Given the description of an element on the screen output the (x, y) to click on. 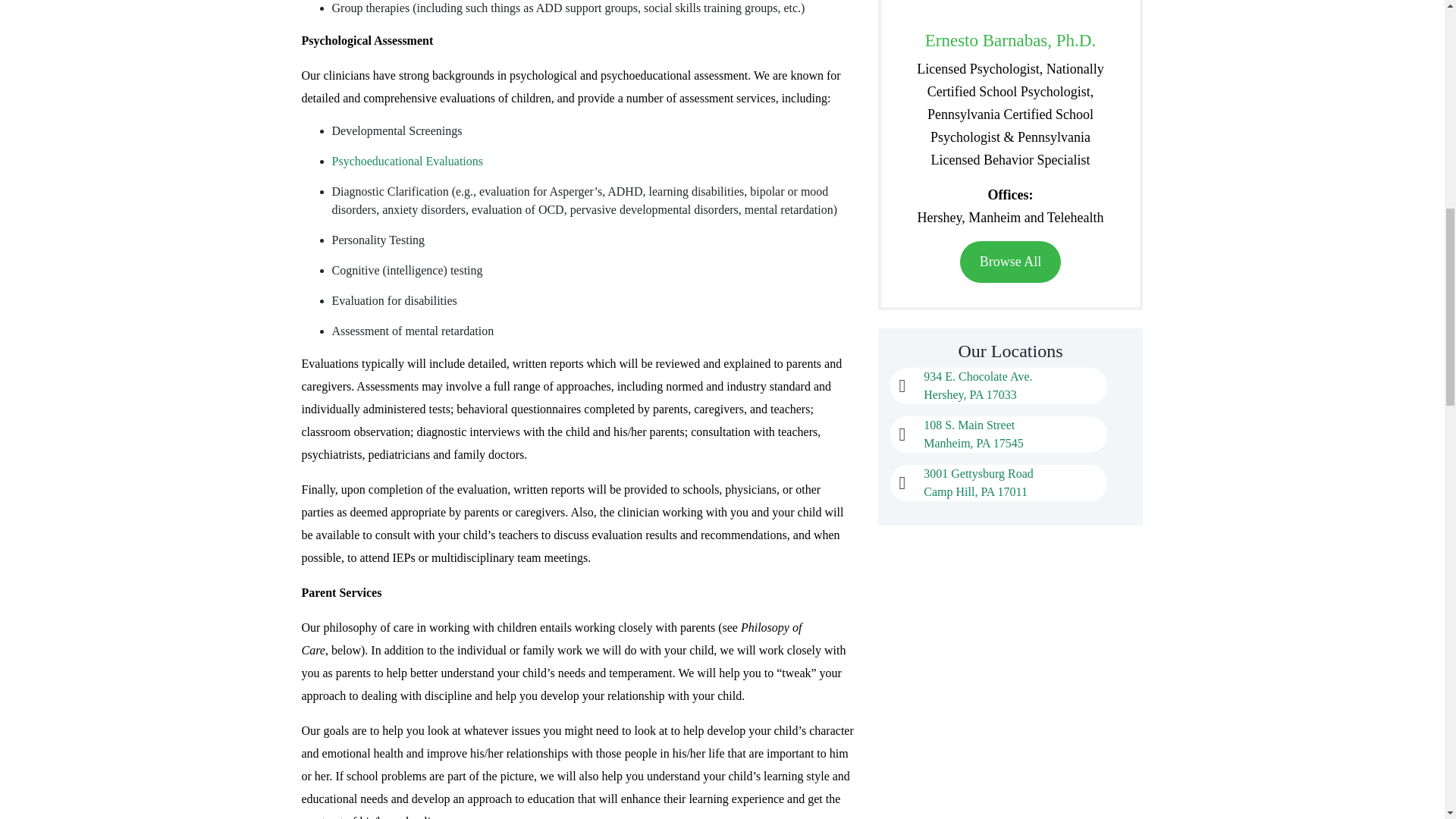
Psychoeducational Evaluations (973, 433)
Browse All (407, 160)
